Given the description of an element on the screen output the (x, y) to click on. 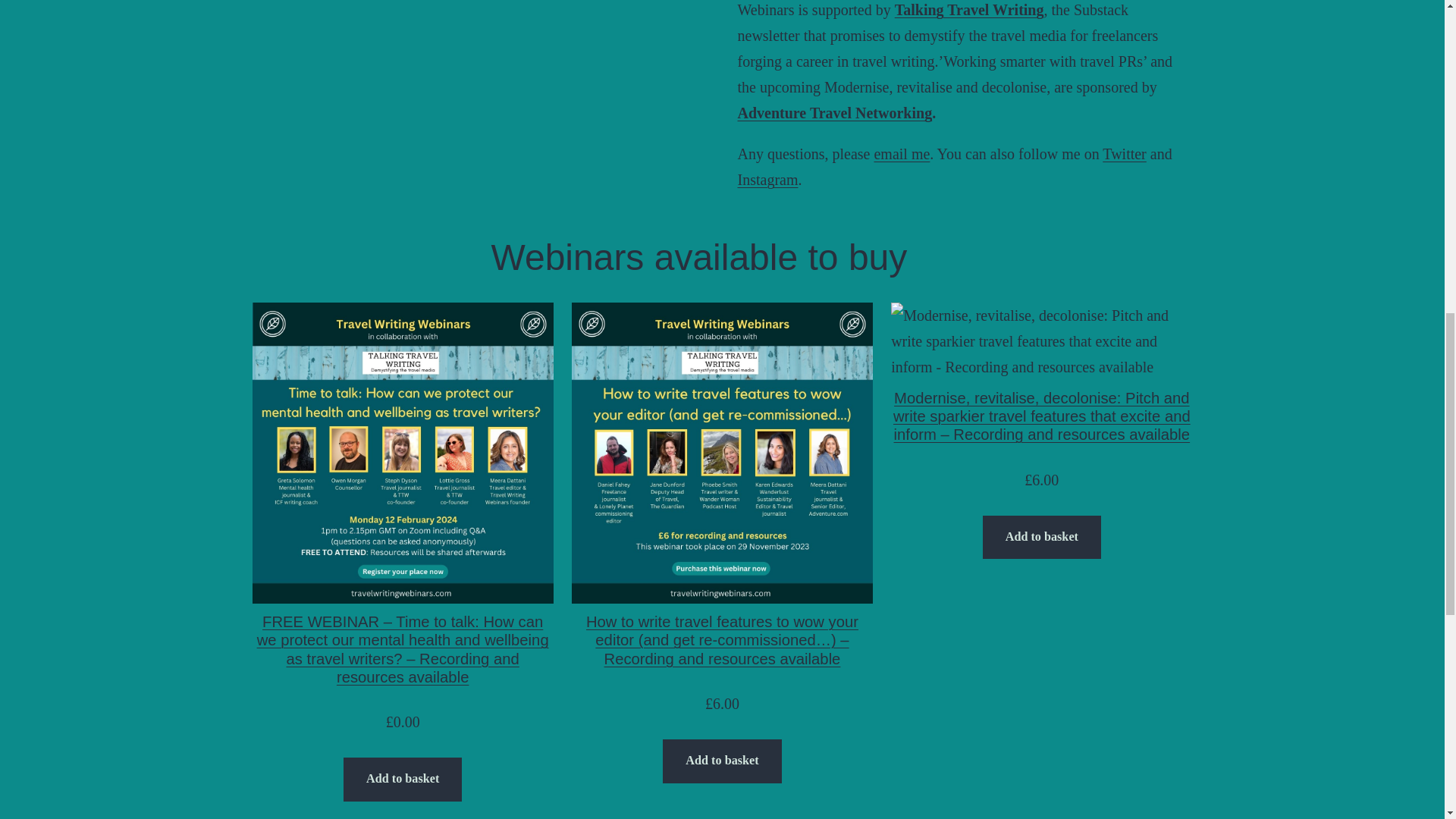
Instagram (766, 179)
Add to basket (402, 779)
Twitter (1123, 153)
email me (901, 153)
Talking Travel Writing (969, 9)
Add to basket (1041, 537)
Add to basket (721, 760)
Adventure Travel Networking (833, 112)
